Given the description of an element on the screen output the (x, y) to click on. 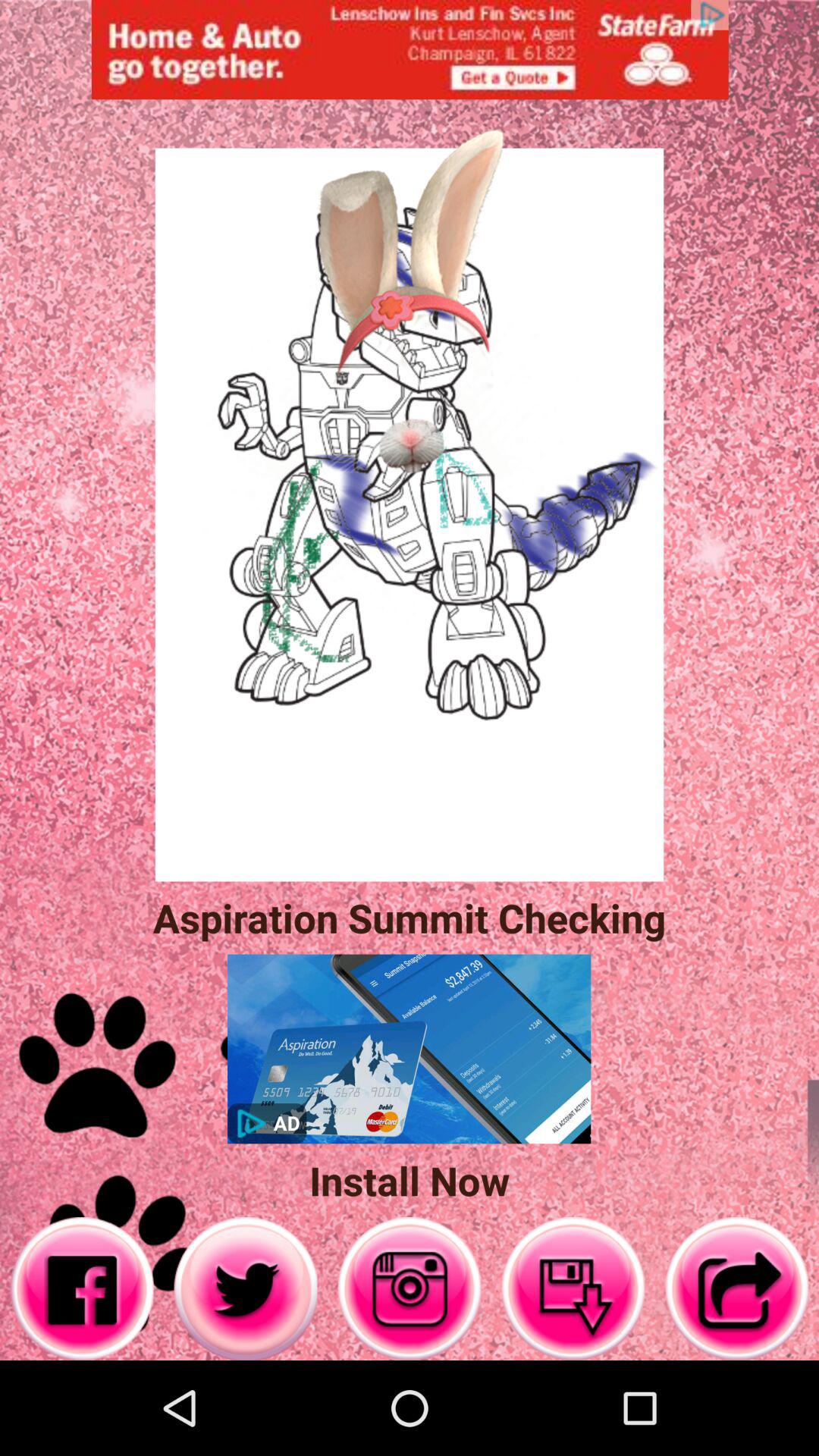
twitter (245, 1288)
